Given the description of an element on the screen output the (x, y) to click on. 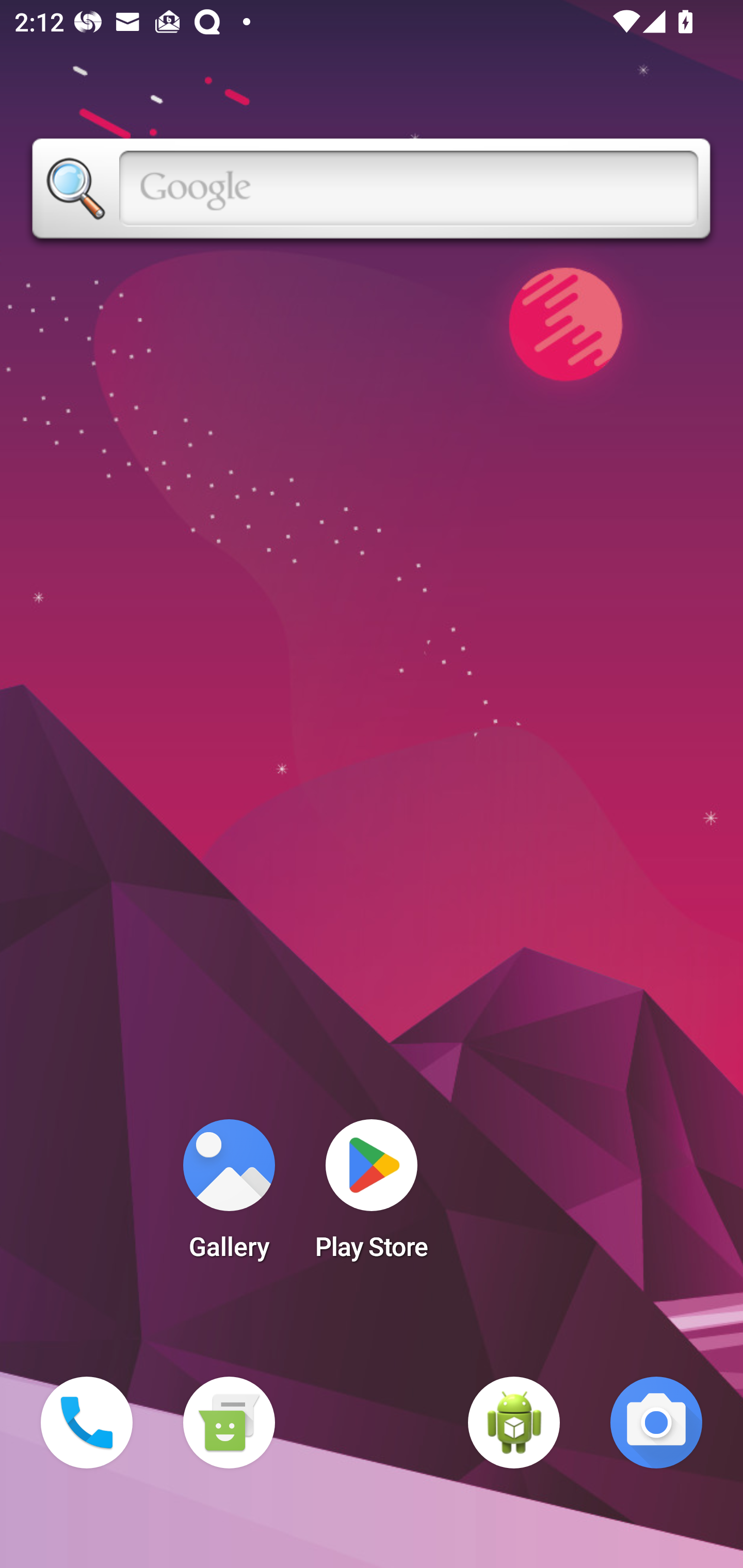
Gallery (228, 1195)
Play Store (371, 1195)
Phone (86, 1422)
Messaging (228, 1422)
WebView Browser Tester (513, 1422)
Camera (656, 1422)
